Given the description of an element on the screen output the (x, y) to click on. 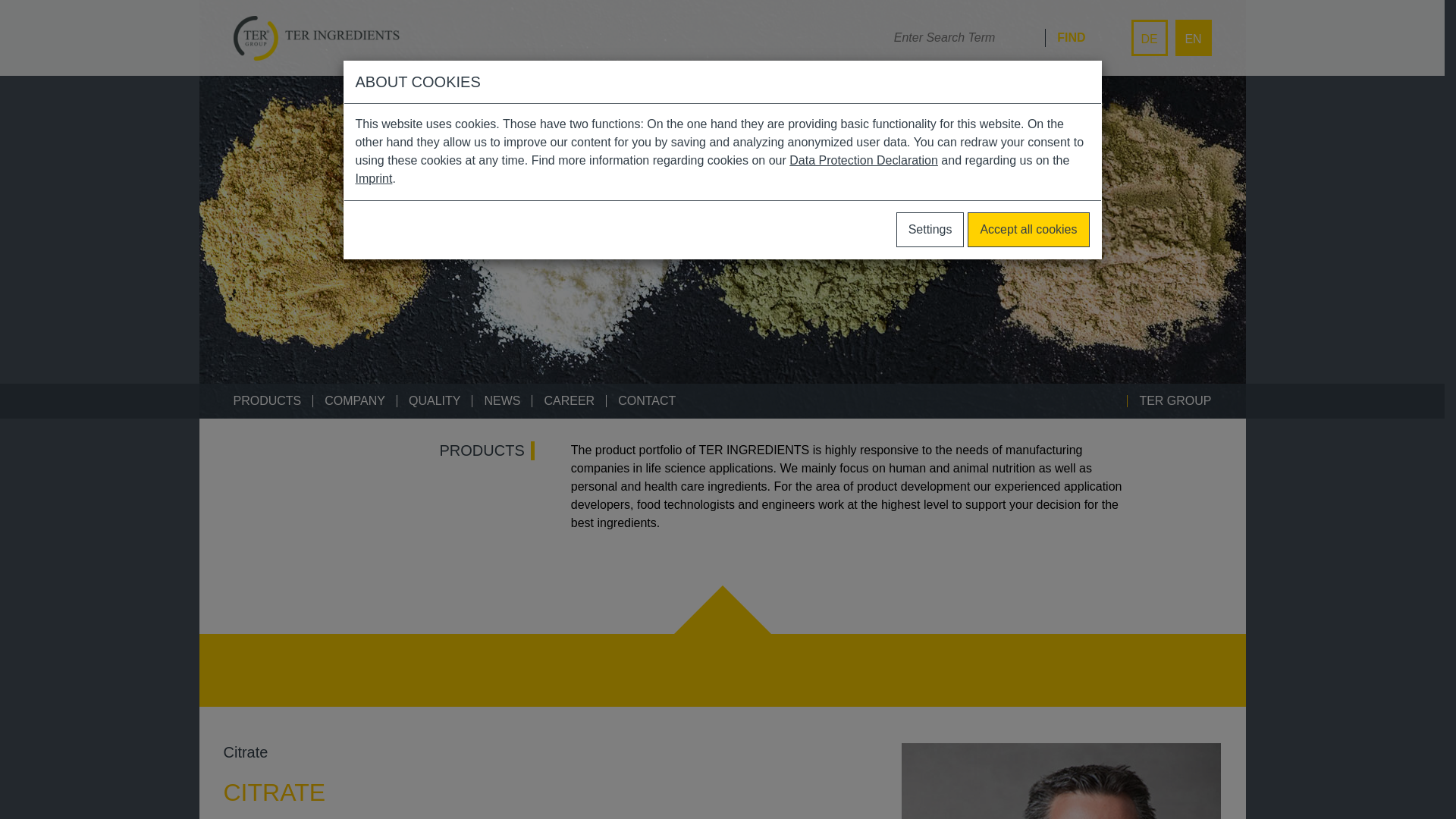
TER GROUP (1168, 400)
CONTACT (646, 400)
EN (1192, 37)
CAREER (568, 400)
DE (1149, 37)
QUALITY (434, 400)
PRODUCTS (266, 400)
Find (1064, 37)
COMPANY (354, 400)
Find (1064, 37)
Find (1064, 37)
NEWS (501, 400)
